Given the description of an element on the screen output the (x, y) to click on. 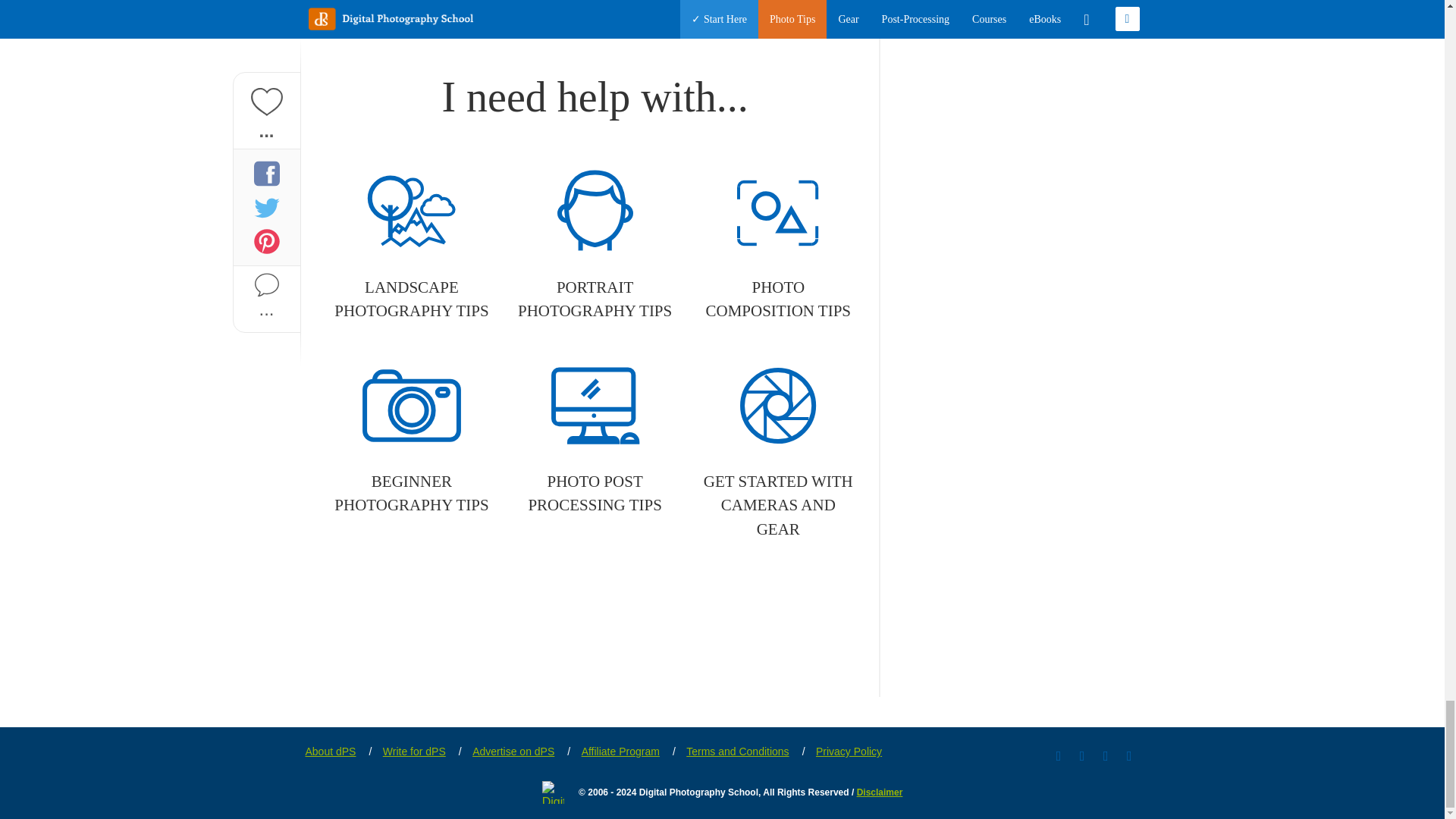
Portrait Photography Tips (595, 245)
Landscape Photography Tips (411, 245)
